Given the description of an element on the screen output the (x, y) to click on. 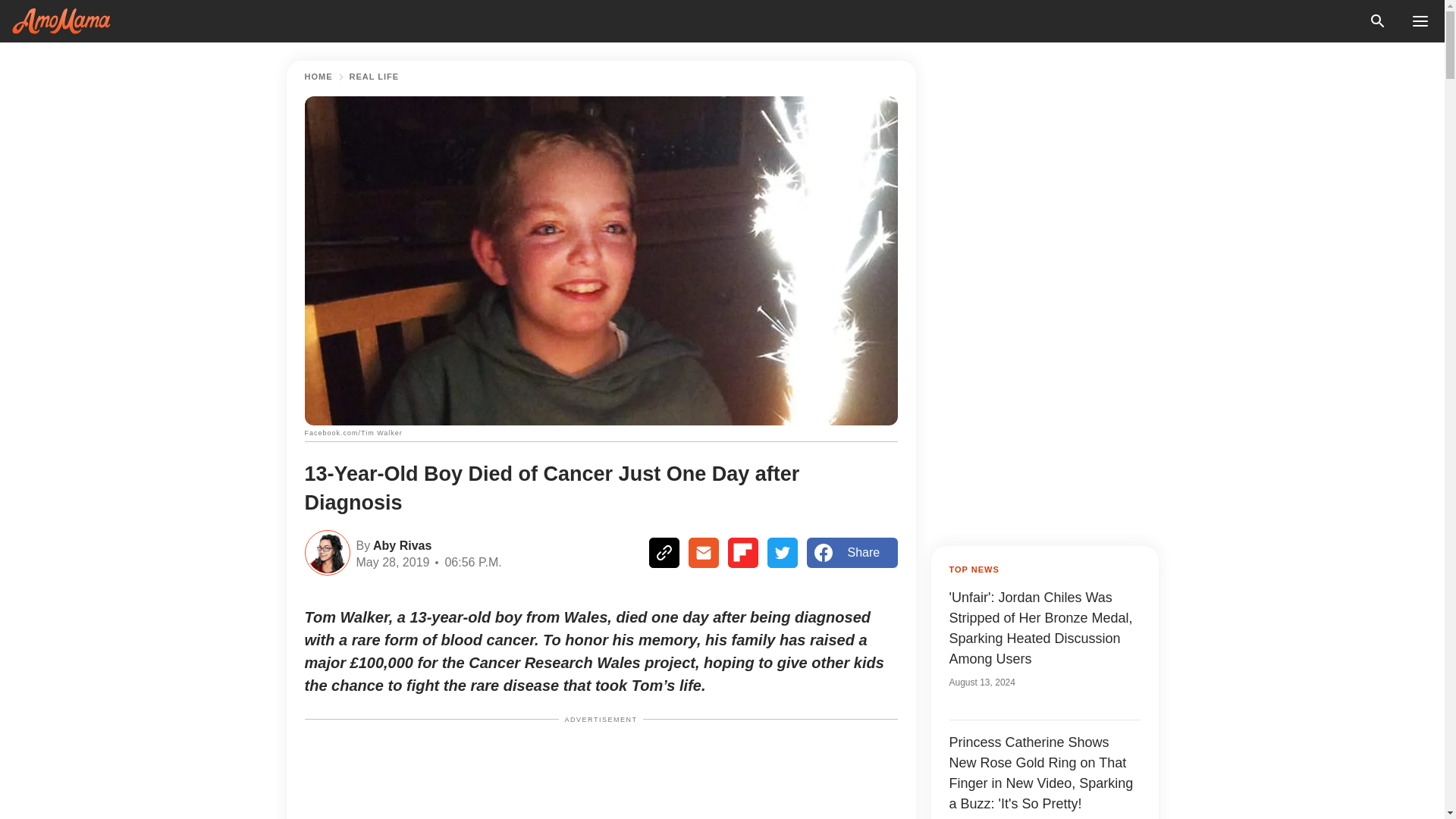
Aby Rivas (399, 544)
REAL LIFE (373, 76)
HOME (318, 76)
